Given the description of an element on the screen output the (x, y) to click on. 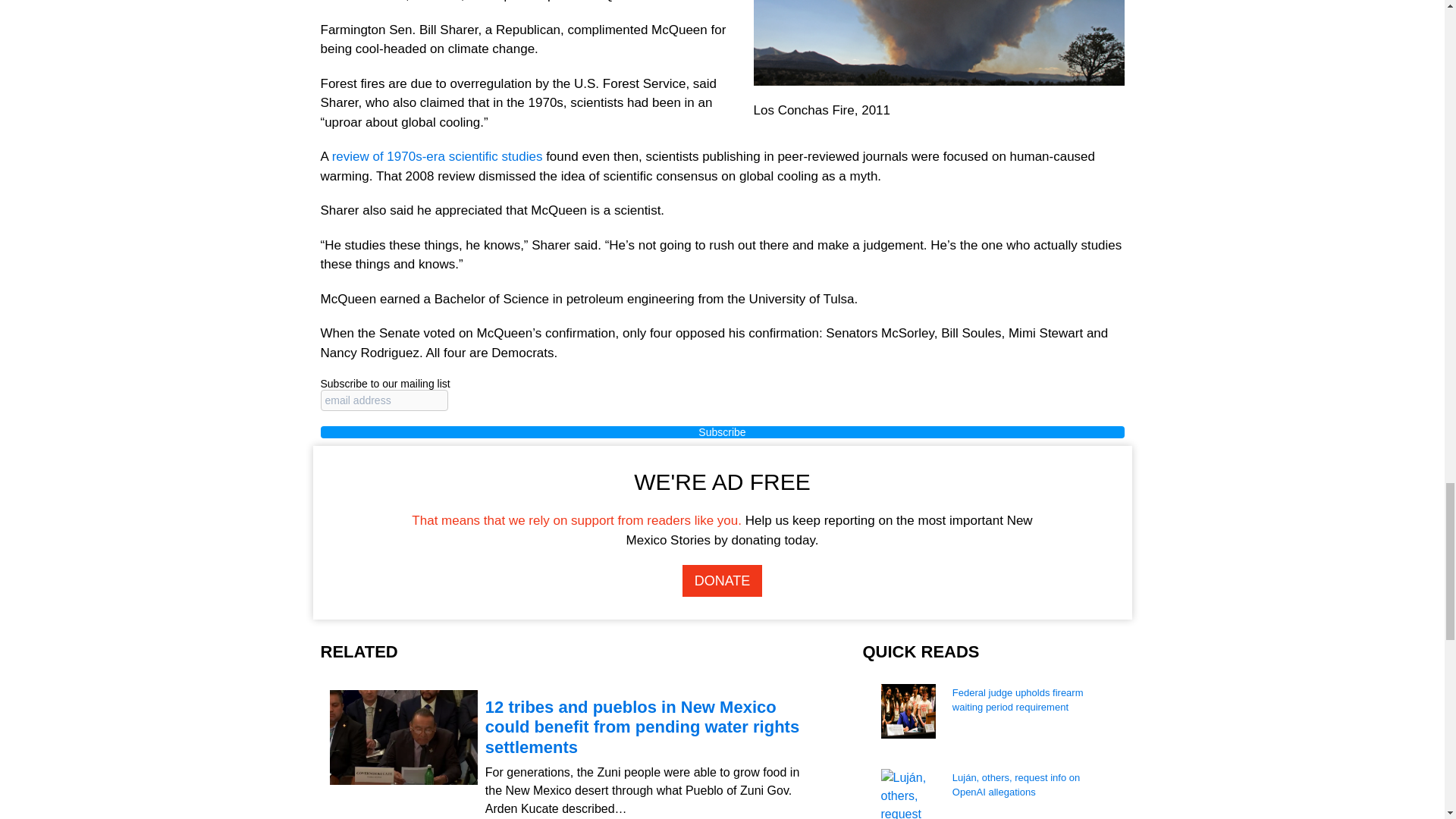
review of 1970s-era scientific studies (437, 156)
Subscribe (722, 431)
Subscribe (722, 431)
DONATE (722, 581)
